Given the description of an element on the screen output the (x, y) to click on. 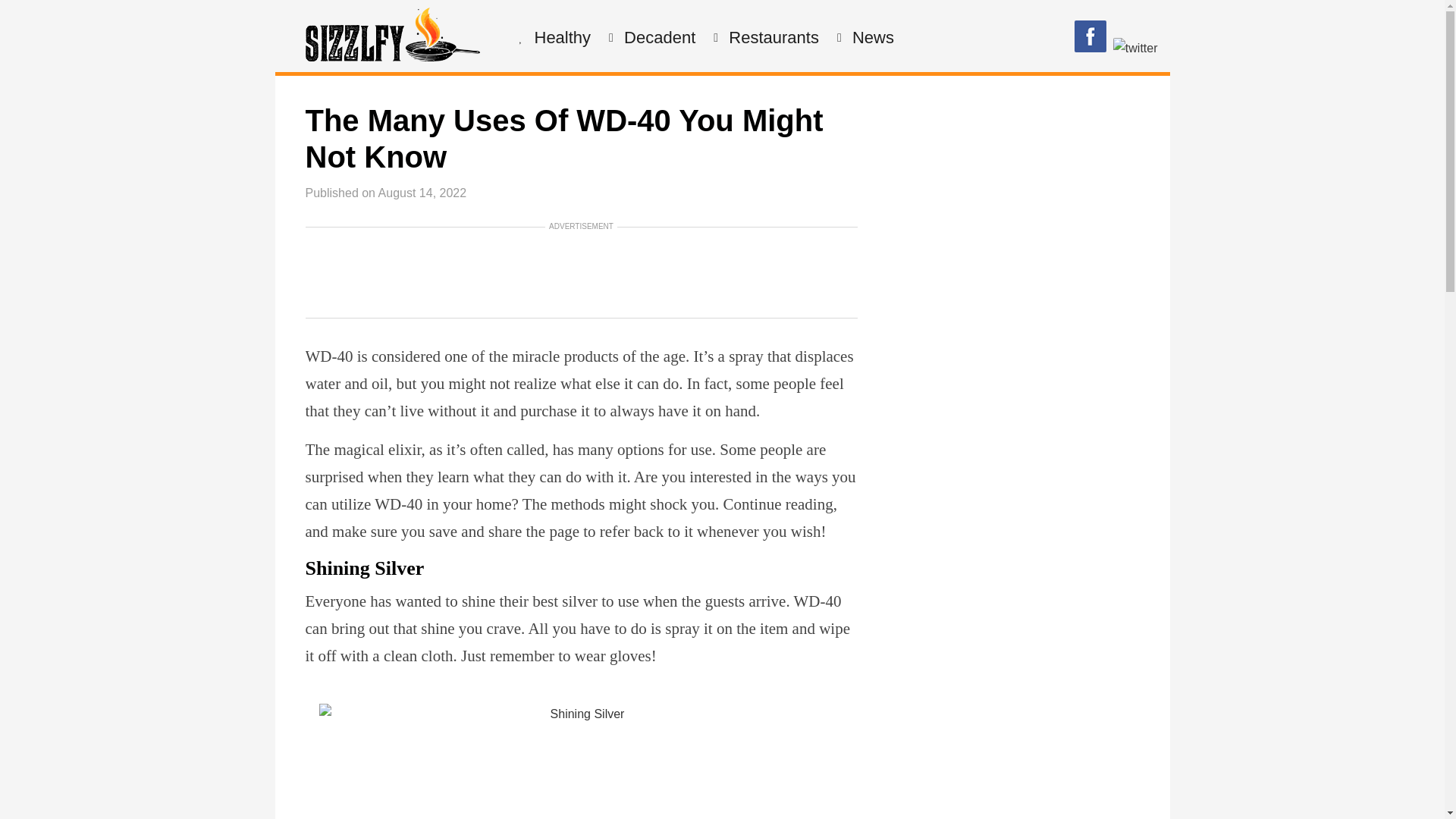
Sizzlfy (391, 56)
News (870, 37)
Decadent (657, 37)
Healthy (561, 37)
Restaurants (771, 37)
